Given the description of an element on the screen output the (x, y) to click on. 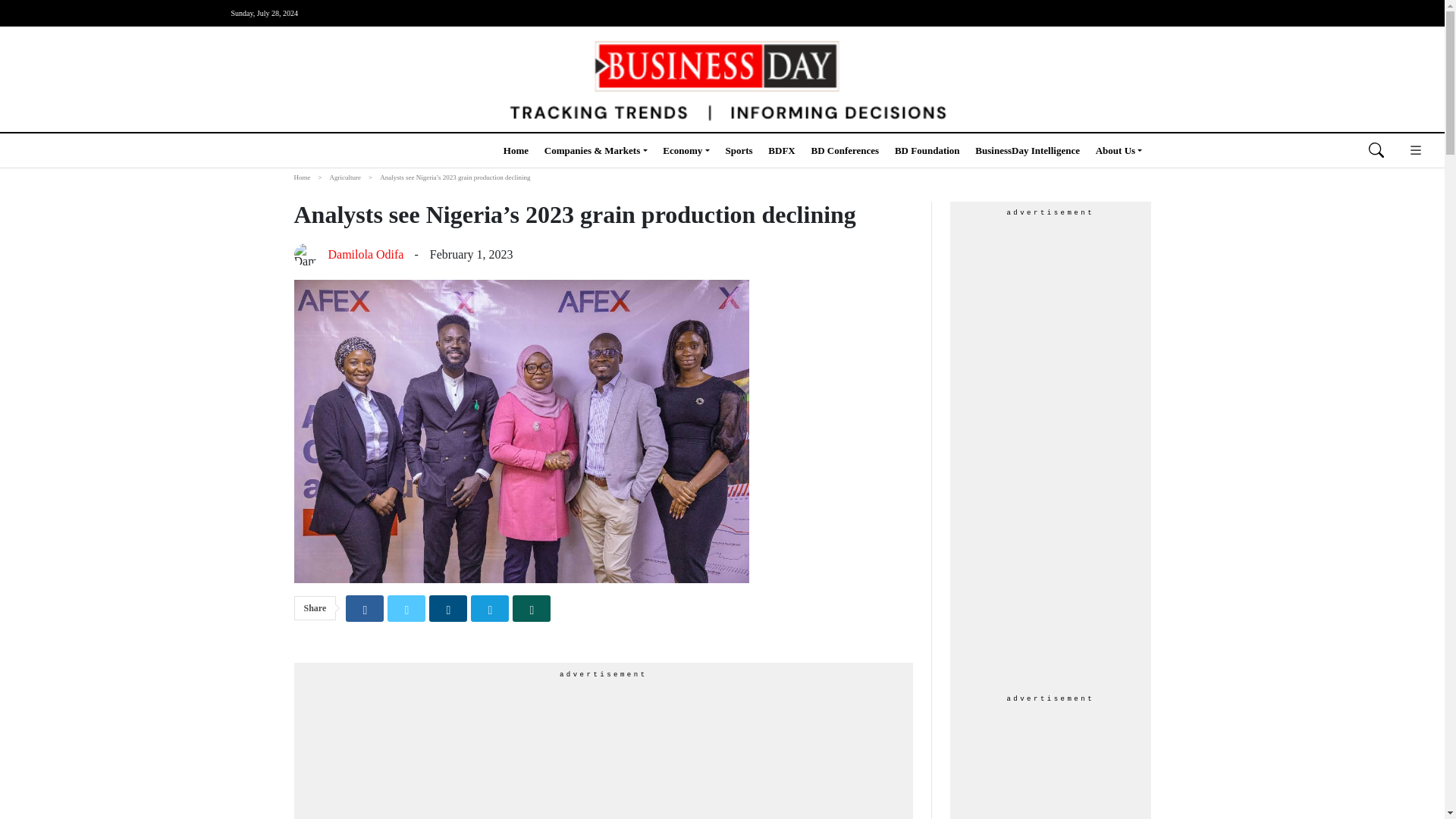
BD Foundation (927, 149)
BD Conferences (844, 149)
Economy (685, 149)
BDFX (781, 149)
BusinessDay Intelligence (1027, 149)
About Us (1119, 149)
Sports (738, 149)
BD Foundation (927, 149)
BD Conferences (844, 149)
Home (515, 149)
About Us (1119, 149)
BDFX (781, 149)
Home (515, 149)
Economy (685, 149)
BusinessDay Intelligence (1027, 149)
